Given the description of an element on the screen output the (x, y) to click on. 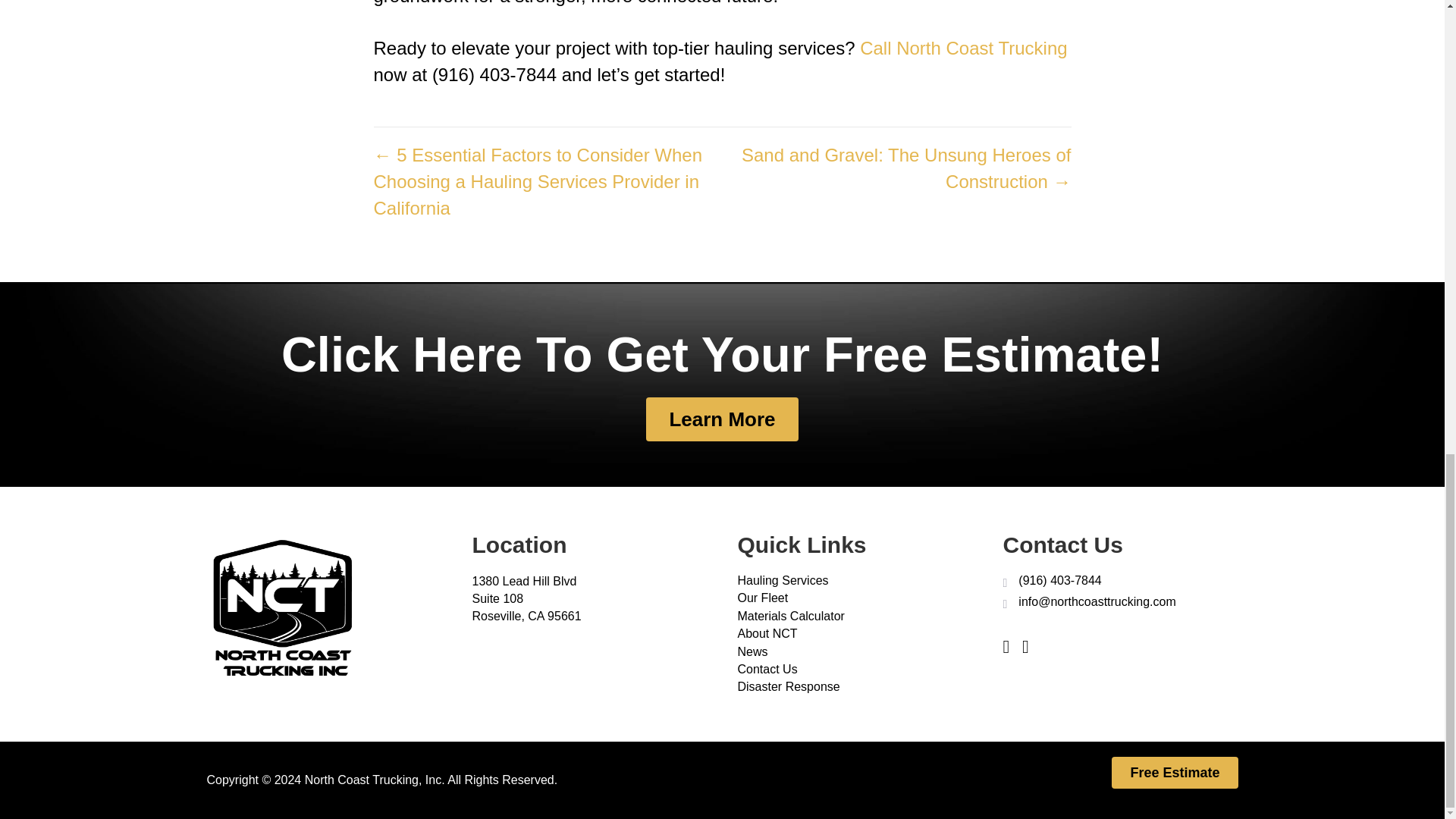
Contact Us (854, 669)
Learn More (721, 419)
Disaster Response (854, 686)
Our Fleet (854, 597)
Call North Coast Trucking (963, 47)
About NCT (854, 633)
Free Estimate (1174, 772)
logo (282, 607)
Materials Calculator (854, 616)
Hauling Services (854, 580)
